Given the description of an element on the screen output the (x, y) to click on. 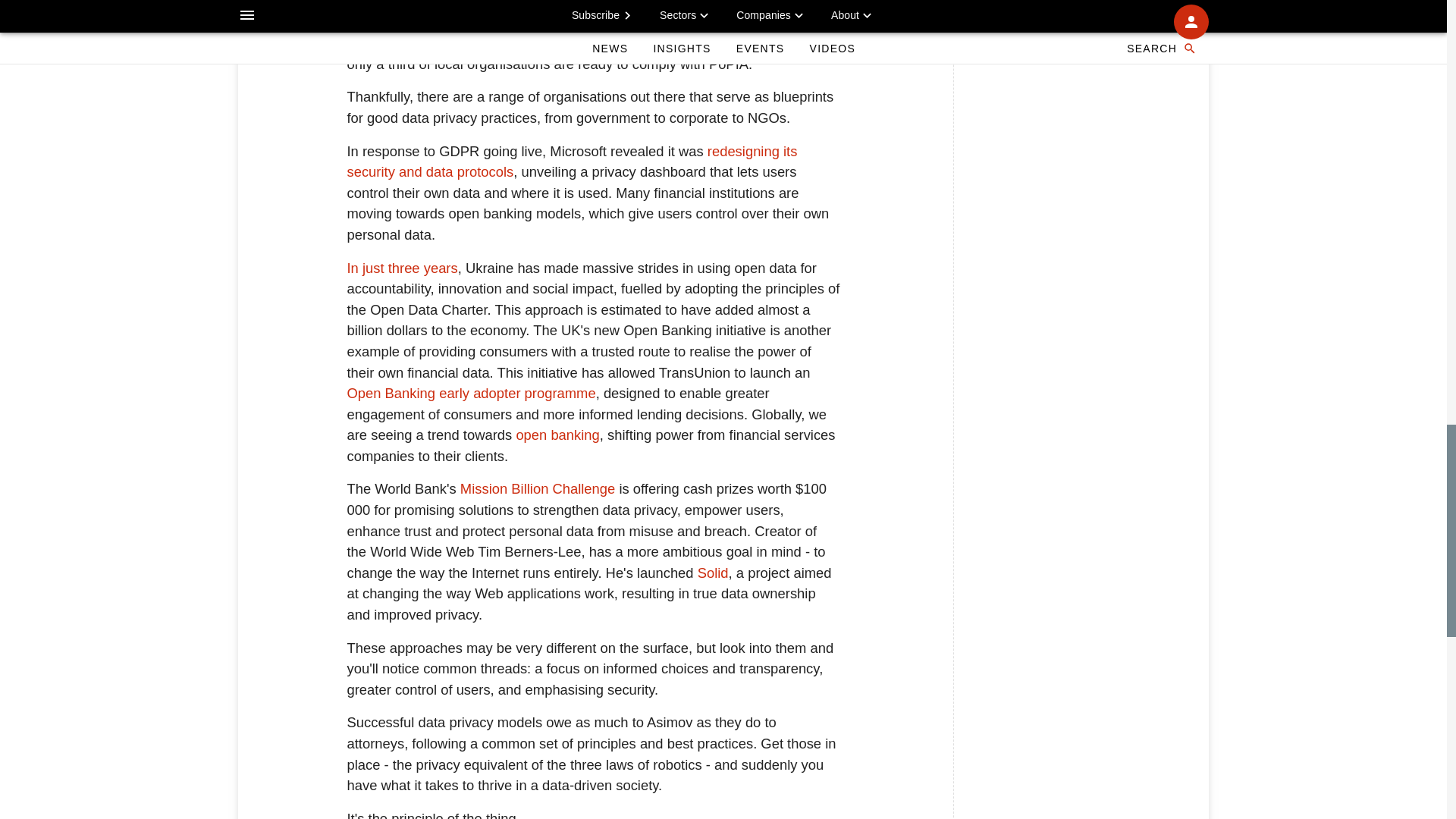
Mission Billion Challenge (537, 488)
Solid (713, 572)
Open Banking early adopter programme (471, 392)
In just three years (402, 268)
redesigning its security and data protocols (572, 161)
study from Sophos (673, 42)
open banking (556, 434)
